Given the description of an element on the screen output the (x, y) to click on. 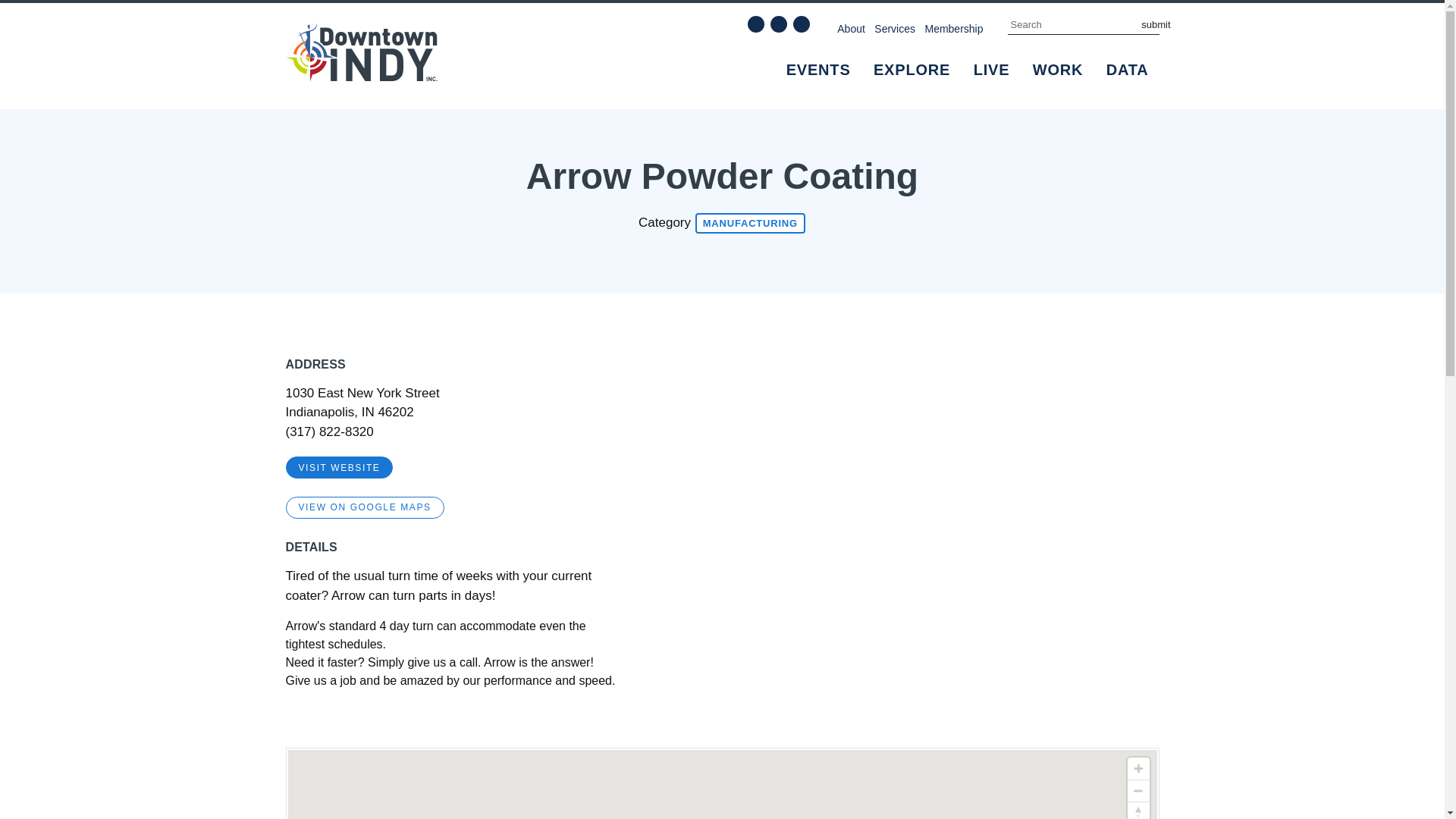
Services (895, 28)
Skip to Main Content (56, 9)
About (850, 28)
Reset bearing to north (1137, 810)
Zoom in (1137, 768)
Membership (953, 28)
LIVE (991, 69)
Zoom out (1137, 790)
EXPLORE (911, 69)
DATA (1127, 69)
WORK (1058, 69)
EVENTS (818, 69)
MANUFACTURING (750, 222)
